Given the description of an element on the screen output the (x, y) to click on. 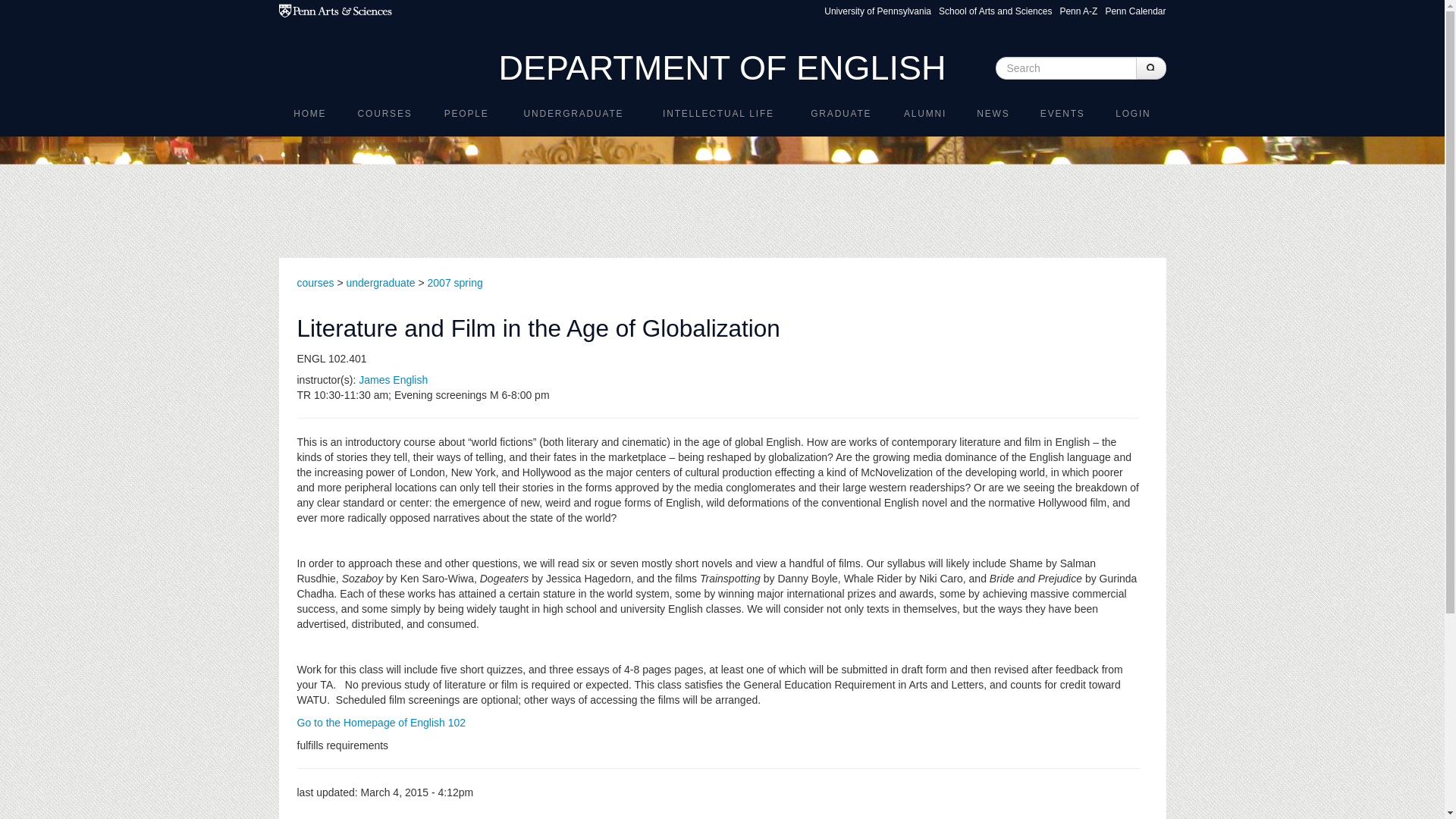
EVENTS (1062, 113)
COURSES (384, 113)
Search (1193, 60)
Penn Calendar (1135, 10)
UNDERGRADUATE (573, 113)
courses (315, 282)
University of Pennsylvania (877, 10)
ALUMNI (924, 113)
Search (1150, 67)
